Given the description of an element on the screen output the (x, y) to click on. 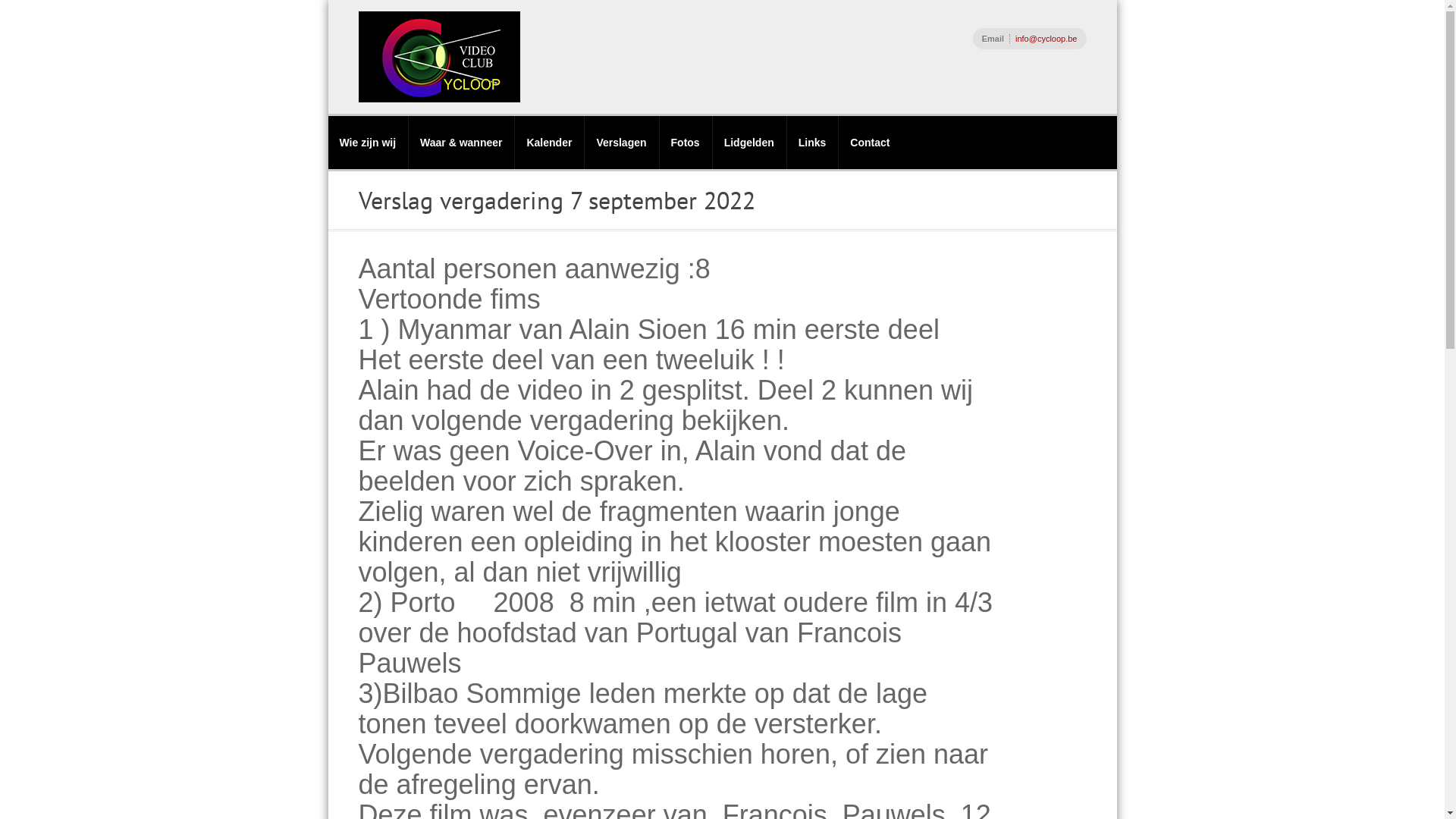
Wie zijn wij Element type: text (367, 142)
info@cycloop.be Element type: text (1046, 38)
Links Element type: text (811, 142)
Verslagen Element type: text (620, 142)
Cycloop Logo Element type: hover (438, 56)
Waar & wanneer Element type: text (460, 142)
Contact Element type: text (868, 142)
Lidgelden Element type: text (748, 142)
Fotos Element type: text (684, 142)
Kalender Element type: text (548, 142)
